Given the description of an element on the screen output the (x, y) to click on. 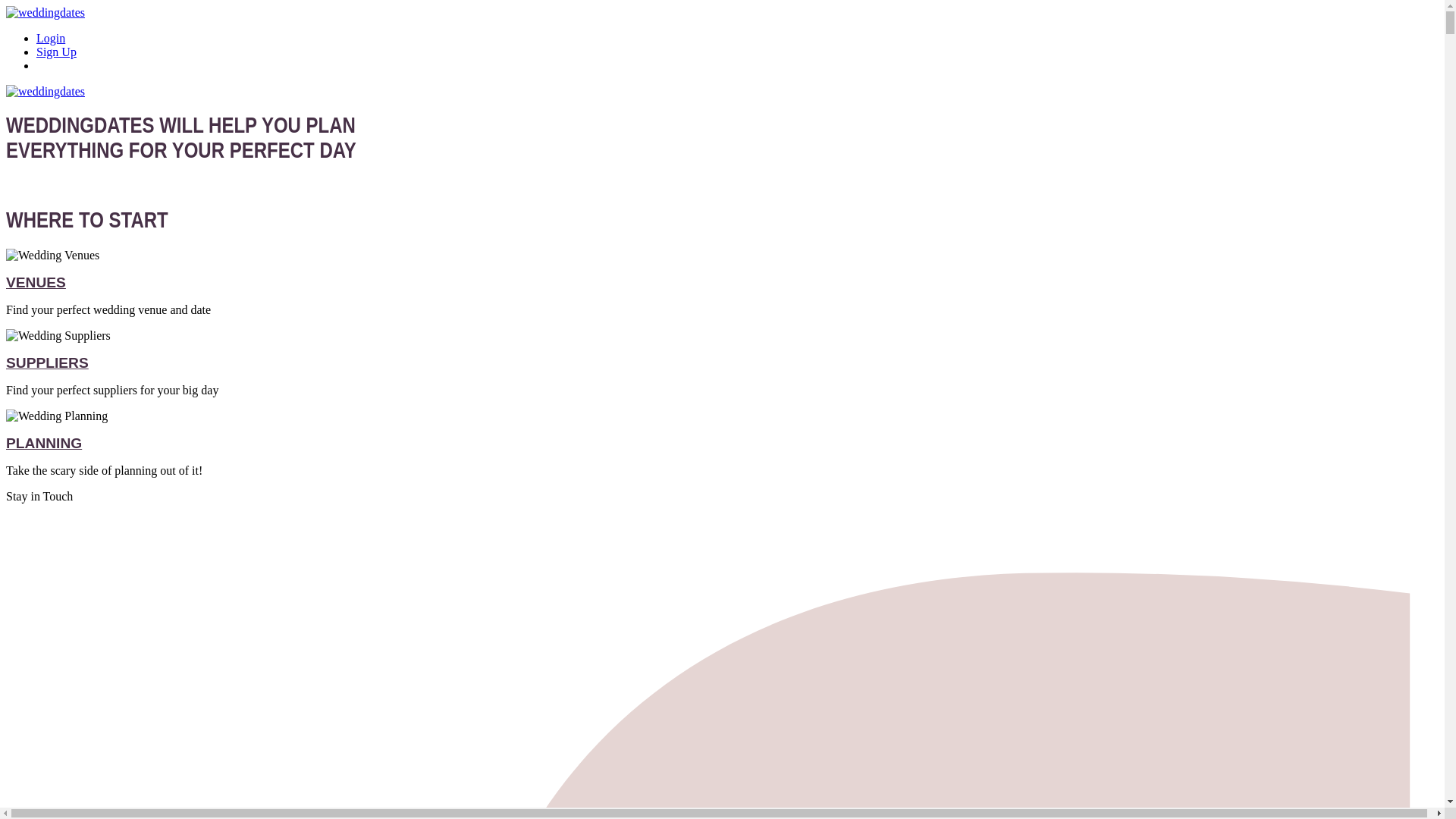
VENUES (35, 282)
SUPPLIERS (46, 362)
Sign Up (56, 51)
weddingdates (44, 12)
PLANNING (43, 442)
Login (50, 38)
weddingdates (44, 91)
